Given the description of an element on the screen output the (x, y) to click on. 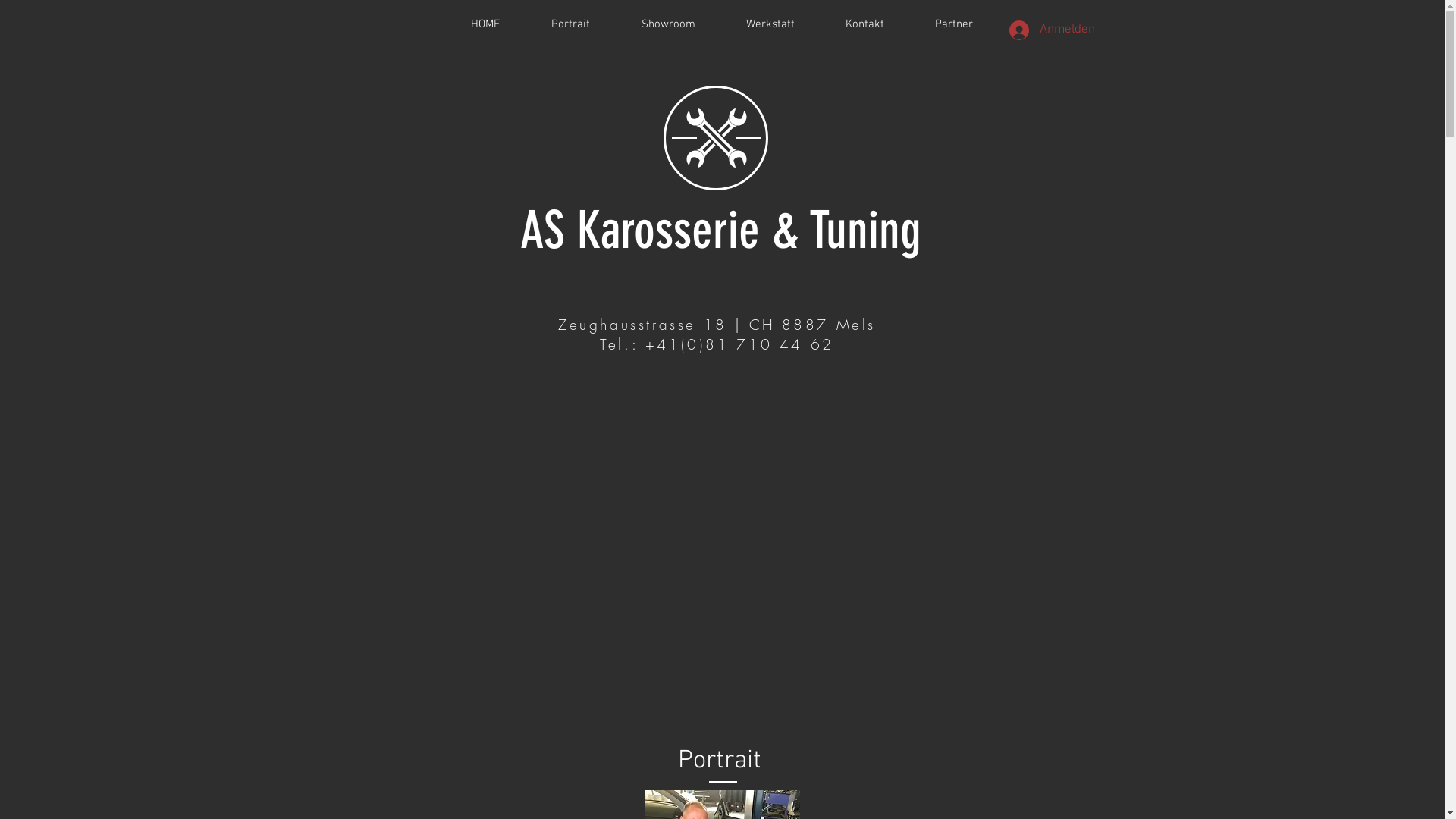
HOME Element type: text (484, 24)
Portrait Element type: text (569, 24)
Anmelden Element type: text (1042, 29)
Kontakt Element type: text (865, 24)
Partner Element type: text (954, 24)
Showroom Element type: text (668, 24)
AS Karosserie & Tuning Element type: text (720, 229)
Werkstatt Element type: text (769, 24)
